Given the description of an element on the screen output the (x, y) to click on. 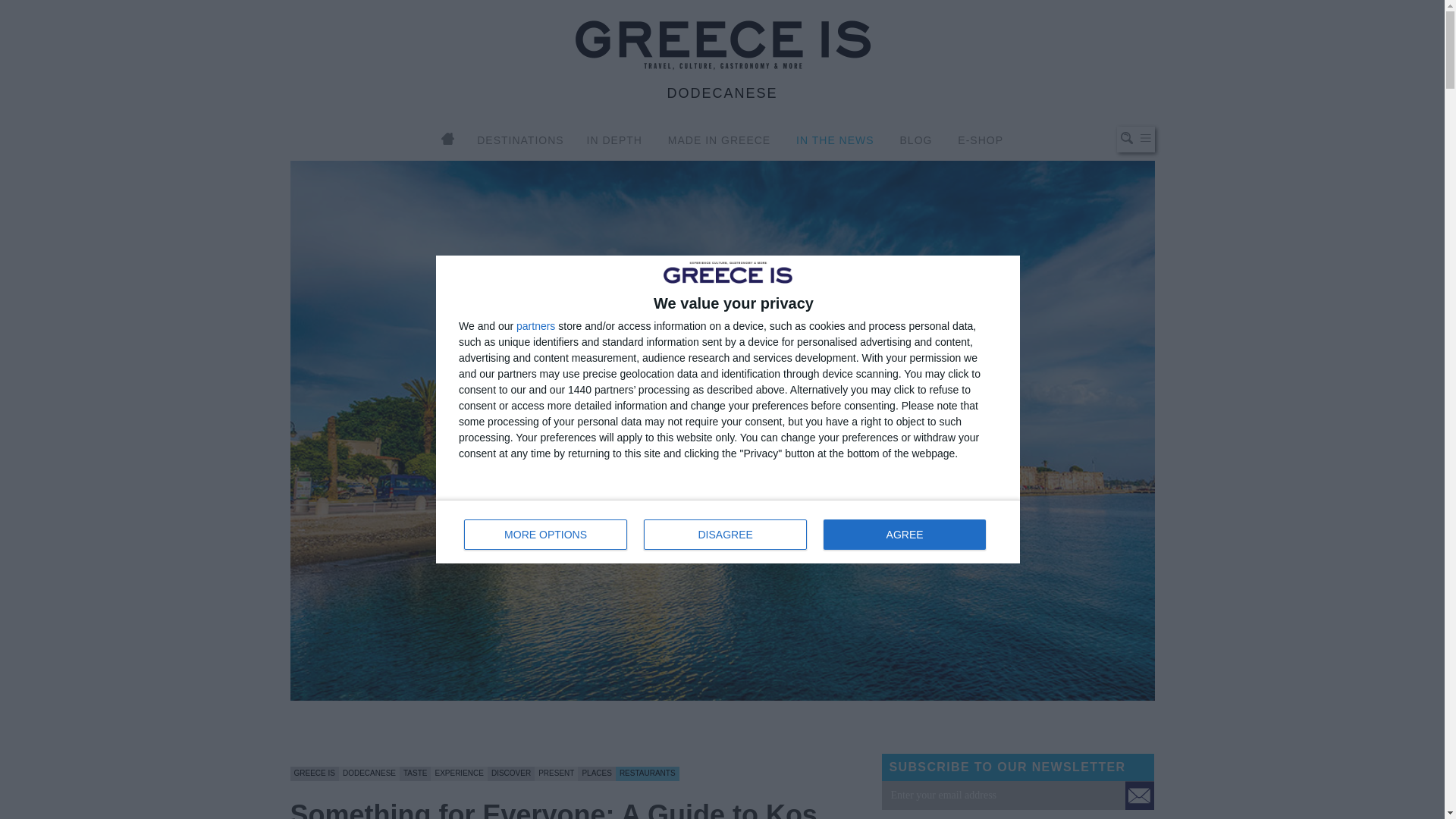
Greece Is (314, 773)
Experience (458, 773)
Places (595, 773)
Present (555, 773)
Discover (511, 773)
AGREE (904, 534)
Dodecanese (369, 773)
Taste (414, 773)
DISAGREE (724, 534)
DODECANESE (721, 92)
Restaurants (647, 773)
MORE OPTIONS (545, 534)
DESTINATIONS (520, 139)
partners (727, 531)
